Given the description of an element on the screen output the (x, y) to click on. 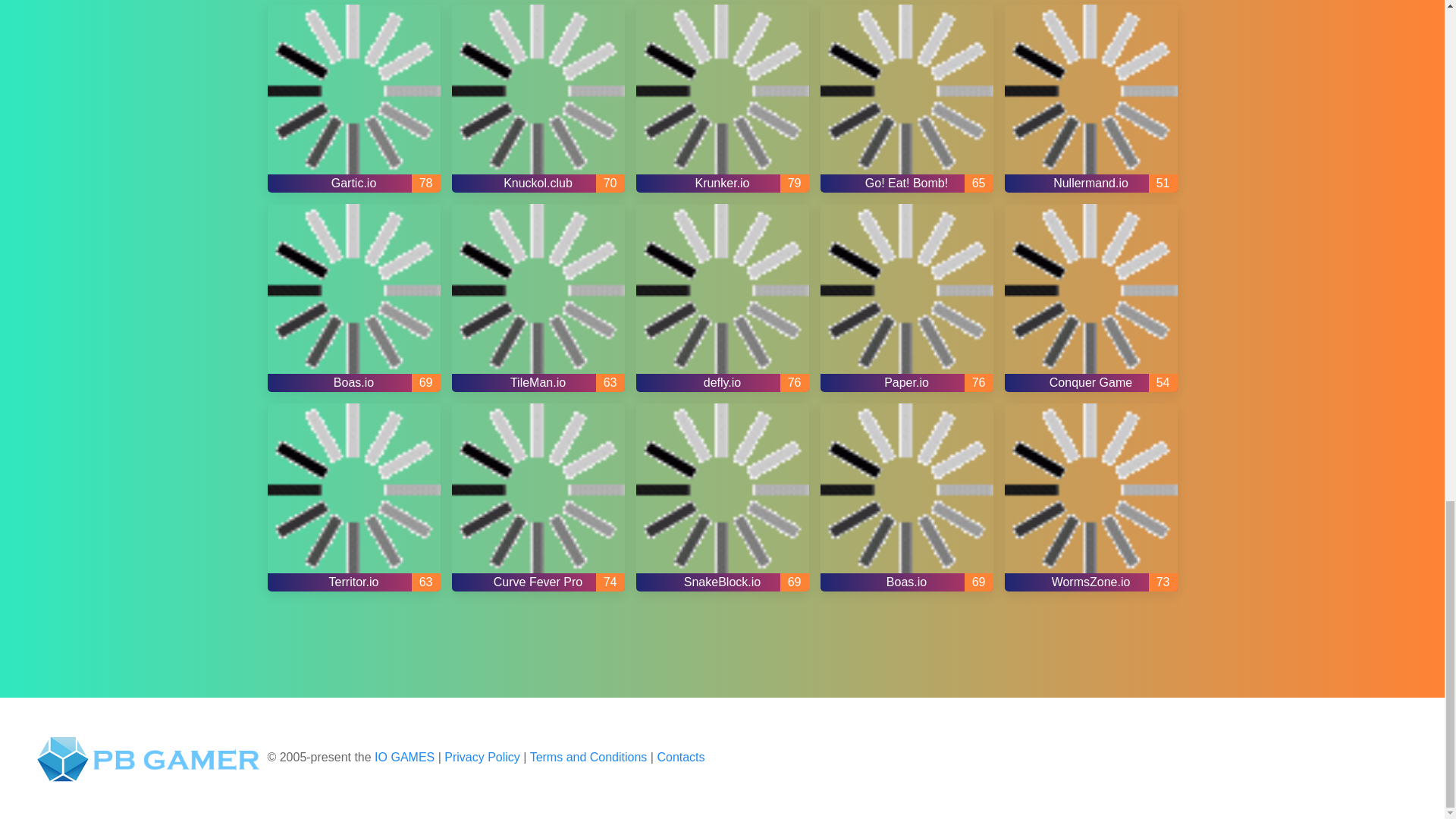
Paper.io (906, 297)
Knuckol.club (537, 98)
SnakeBlock.io (721, 497)
Boas.io (352, 297)
defly.io (721, 297)
Territor.io (352, 497)
Conquer Game (1090, 297)
Go! Eat! Bomb! (906, 98)
Krunker.io (721, 98)
Boas.io (906, 497)
TileMan.io (537, 297)
Curve Fever Pro (537, 497)
Gartic.io (352, 98)
WormsZone.io (1090, 497)
Nullermand.io (1090, 98)
